Given the description of an element on the screen output the (x, y) to click on. 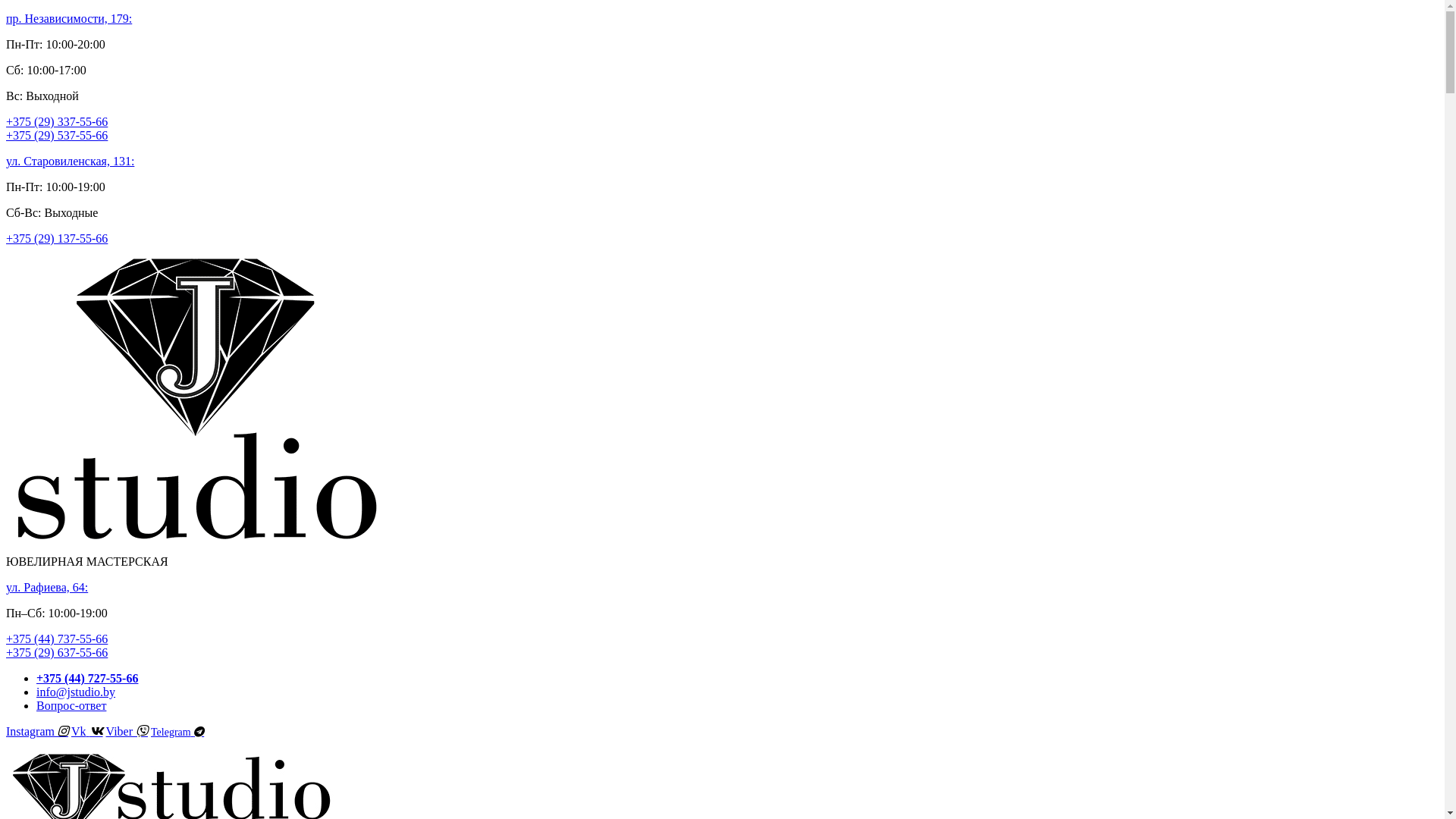
+375 (44) 737-55-66 Element type: text (56, 638)
+375 (29) 637-55-66 Element type: text (56, 652)
Viber Element type: text (126, 730)
+375 (29) 337-55-66 Element type: text (56, 121)
Instagram Element type: text (37, 730)
Telegram Element type: text (176, 731)
+375 (44) 727-55-66 Element type: text (87, 677)
info@jstudio.by Element type: text (75, 691)
+375 (29) 137-55-66 Element type: text (56, 238)
Vk Element type: text (87, 730)
+375 (29) 537-55-66 Element type: text (56, 134)
